Given the description of an element on the screen output the (x, y) to click on. 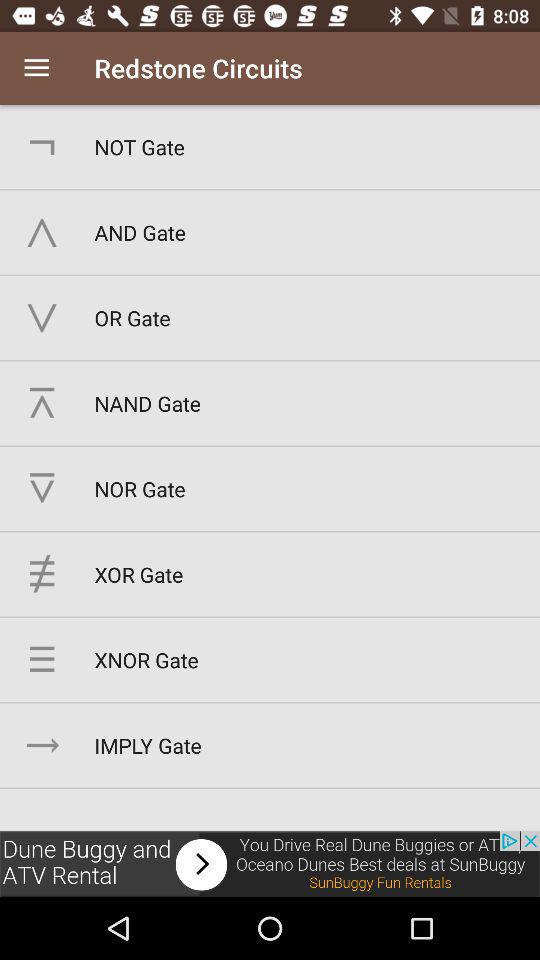
advertisements image (270, 864)
